Given the description of an element on the screen output the (x, y) to click on. 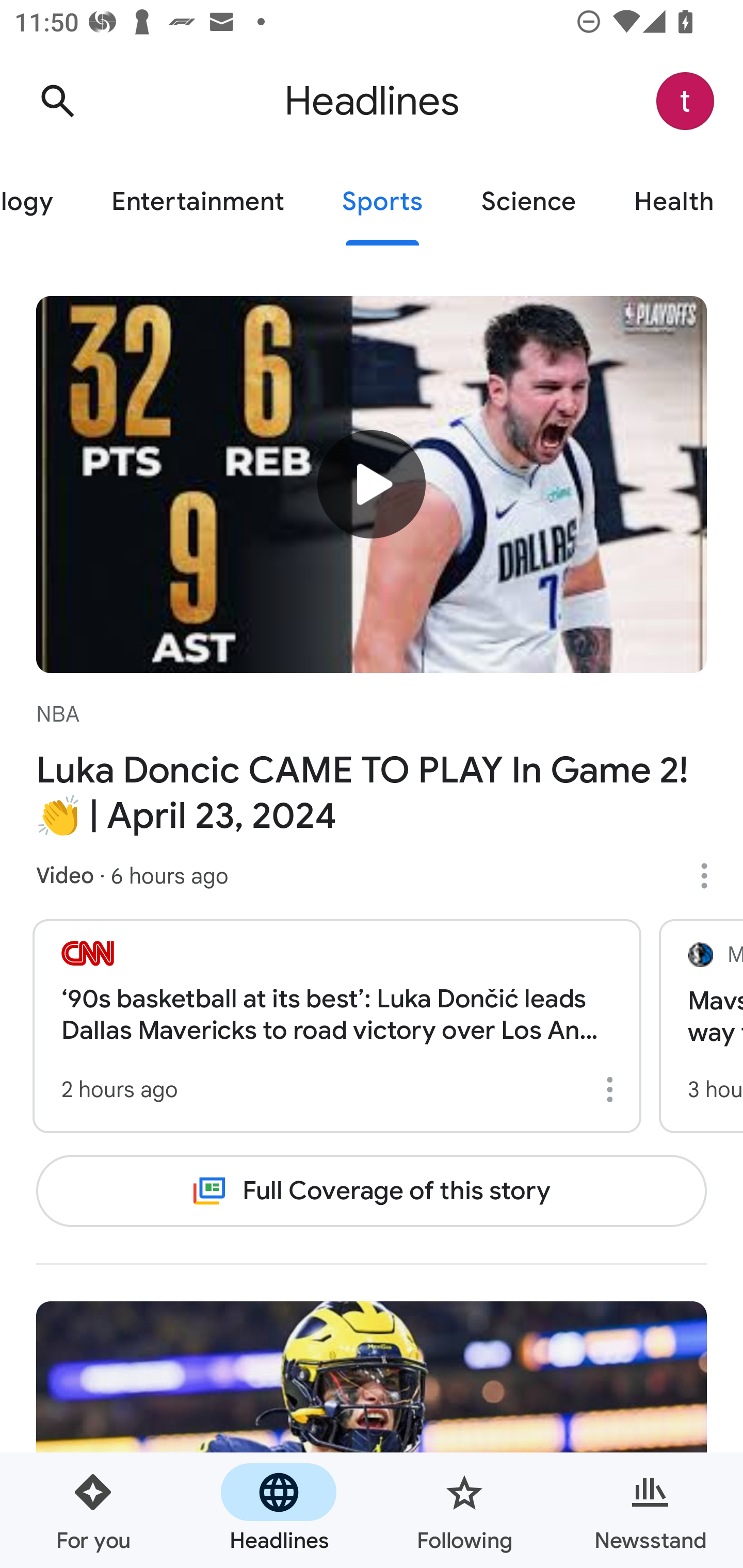
Search (57, 100)
Technology (40, 202)
Entertainment (197, 202)
Science (527, 202)
Health (673, 202)
Play (371, 483)
More options (711, 875)
More options (613, 1089)
Full Coverage of this story (371, 1191)
For you (92, 1509)
Headlines (278, 1509)
Following (464, 1509)
Newsstand (650, 1509)
